Given the description of an element on the screen output the (x, y) to click on. 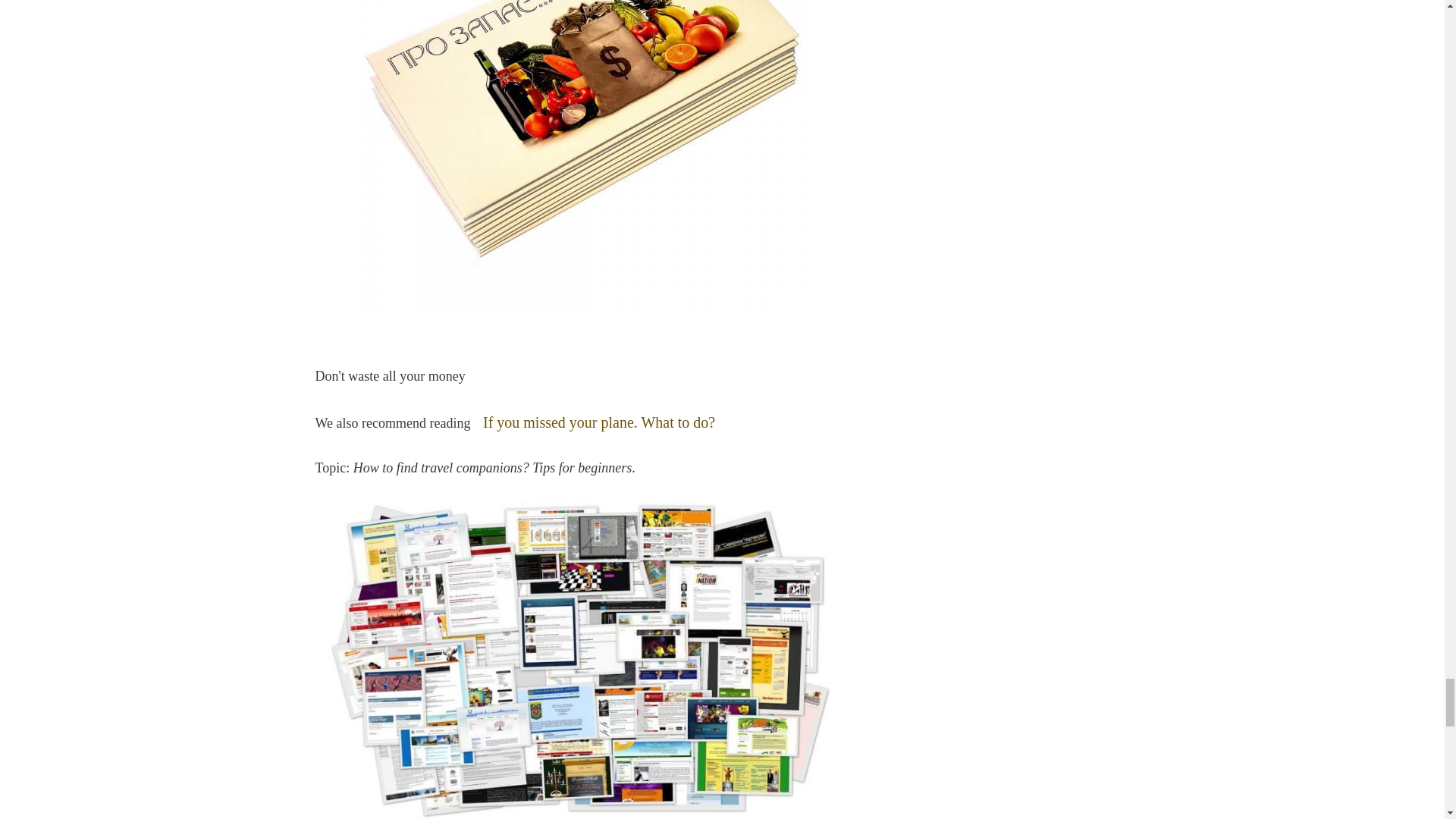
If you missed your plane. What to do? (598, 421)
